Given the description of an element on the screen output the (x, y) to click on. 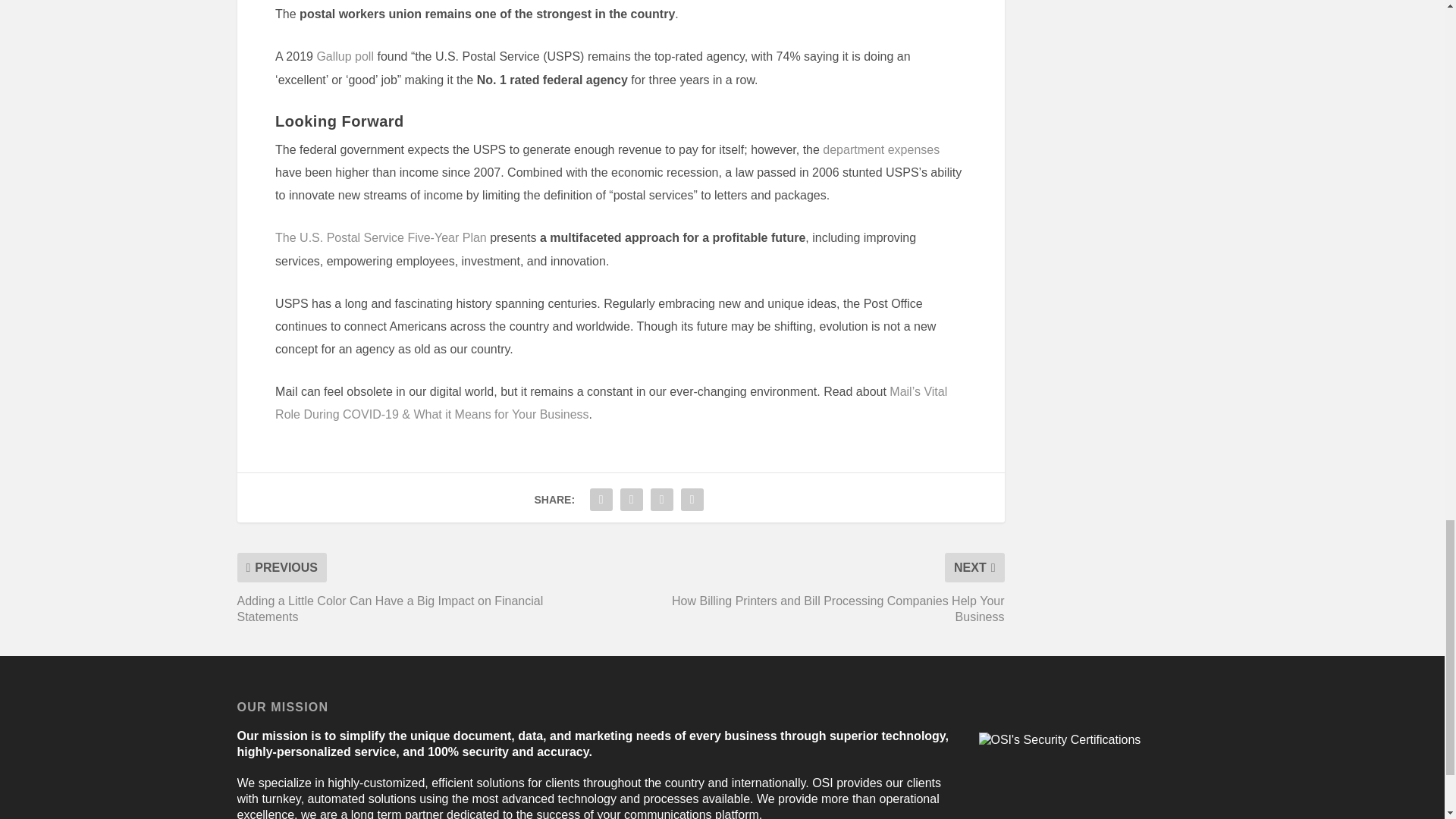
The U.S. Postal Service Five-Year Plan (380, 237)
department expenses (880, 149)
Gallup poll (344, 56)
